Given the description of an element on the screen output the (x, y) to click on. 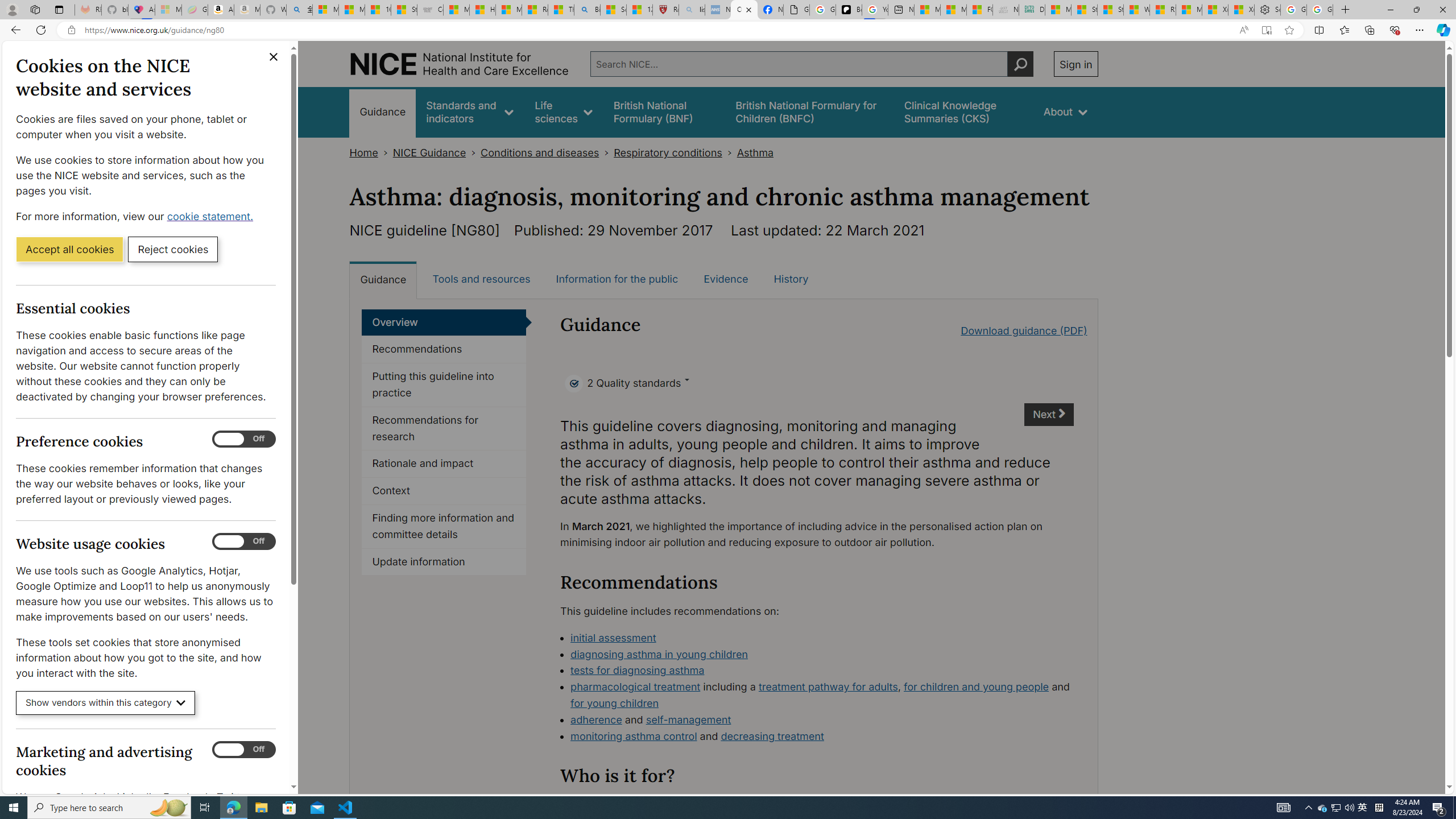
cookie statement. (Opens in a new window) (211, 215)
Rationale and impact (443, 463)
adherence (595, 719)
Marketing and advertising cookies (243, 749)
false (963, 111)
Accept all cookies (69, 248)
Putting this guideline into practice (443, 385)
How I Got Rid of Microsoft Edge's Unnecessary Features (482, 9)
12 Popular Science Lies that Must be Corrected (639, 9)
